Given the description of an element on the screen output the (x, y) to click on. 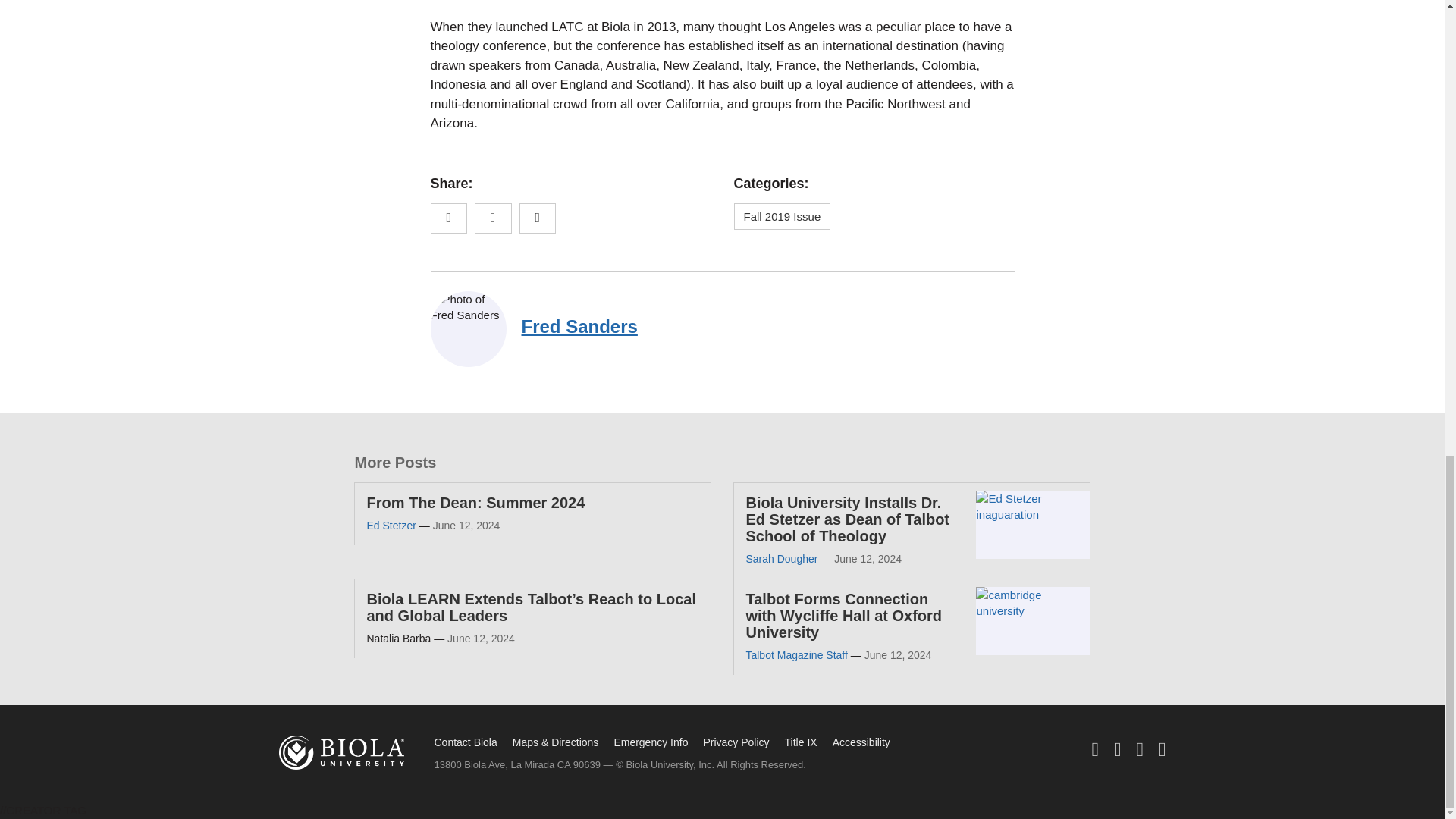
Fall 2019 Issue (782, 216)
Talbot Magazine Staff (796, 654)
Sarah Dougher (780, 558)
Ed Stetzer (390, 525)
Contact Biola (464, 742)
From The Dean: Summer 2024 (475, 502)
Fred Sanders (579, 326)
Emergency Info (649, 742)
